Given the description of an element on the screen output the (x, y) to click on. 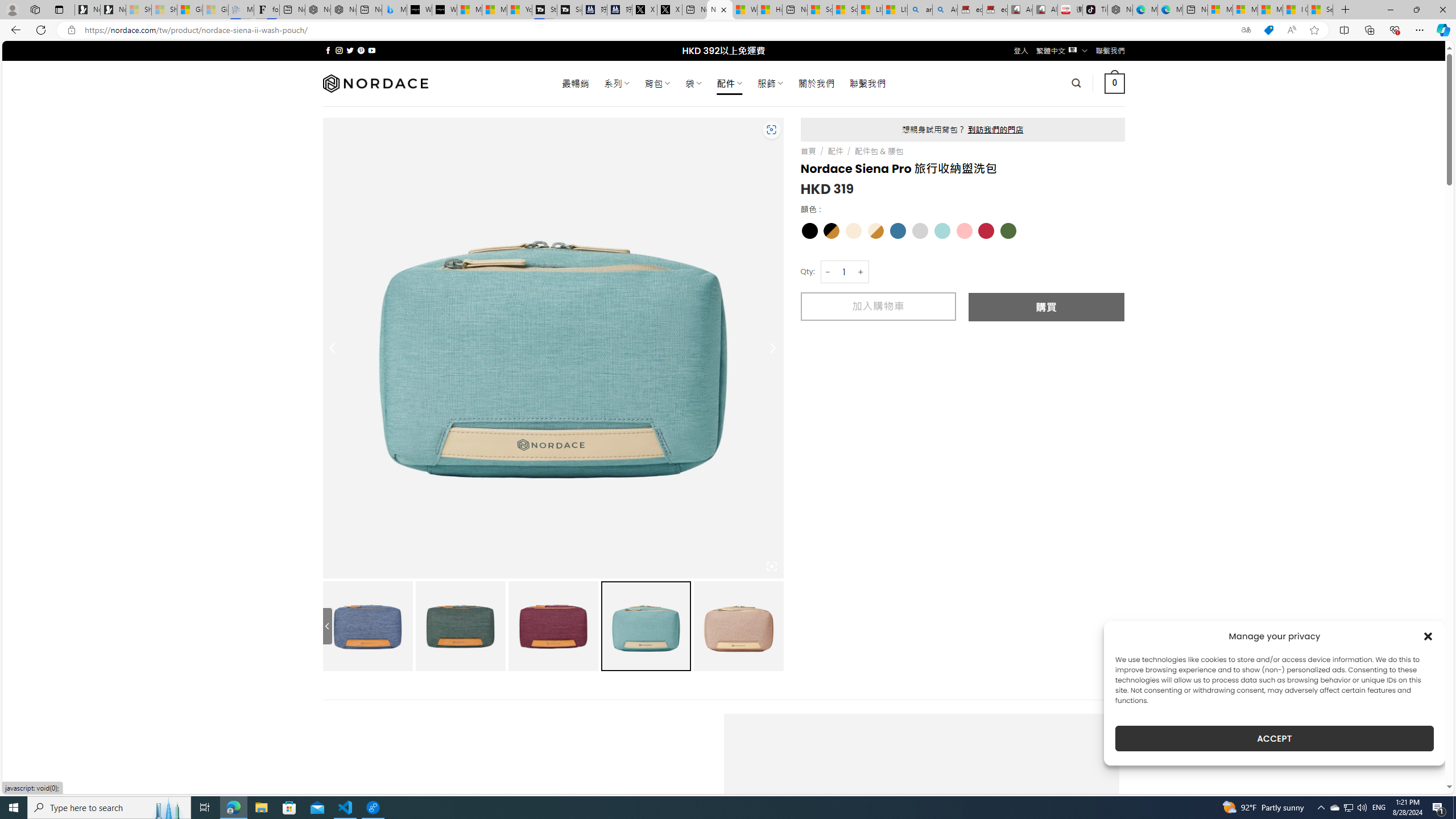
Minimize (1390, 9)
All Cubot phones (1044, 9)
Follow on Twitter (349, 50)
Class: iconic-woothumbs-fullscreen (771, 566)
Microsoft Bing Travel - Shangri-La Hotel Bangkok (394, 9)
Browser essentials (1394, 29)
Close tab (723, 9)
- (827, 272)
Microsoft Start (1270, 9)
